Given the description of an element on the screen output the (x, y) to click on. 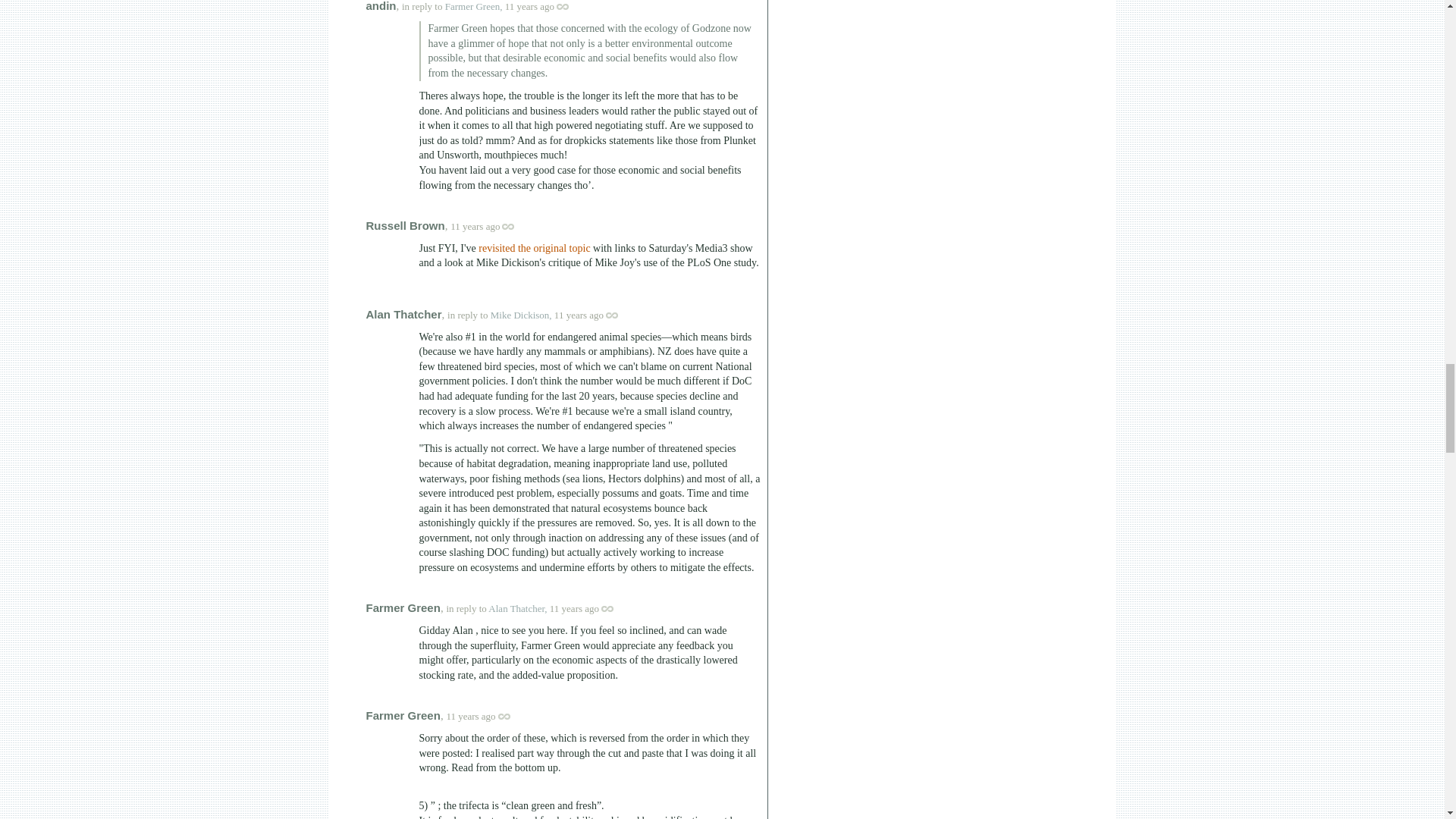
10:53 Dec 3, 2012 (529, 6)
16:01 Dec 3, 2012 (470, 715)
15:27 Dec 3, 2012 (574, 608)
15:10 Dec 3, 2012 (579, 315)
11:07 Dec 3, 2012 (474, 225)
